Given the description of an element on the screen output the (x, y) to click on. 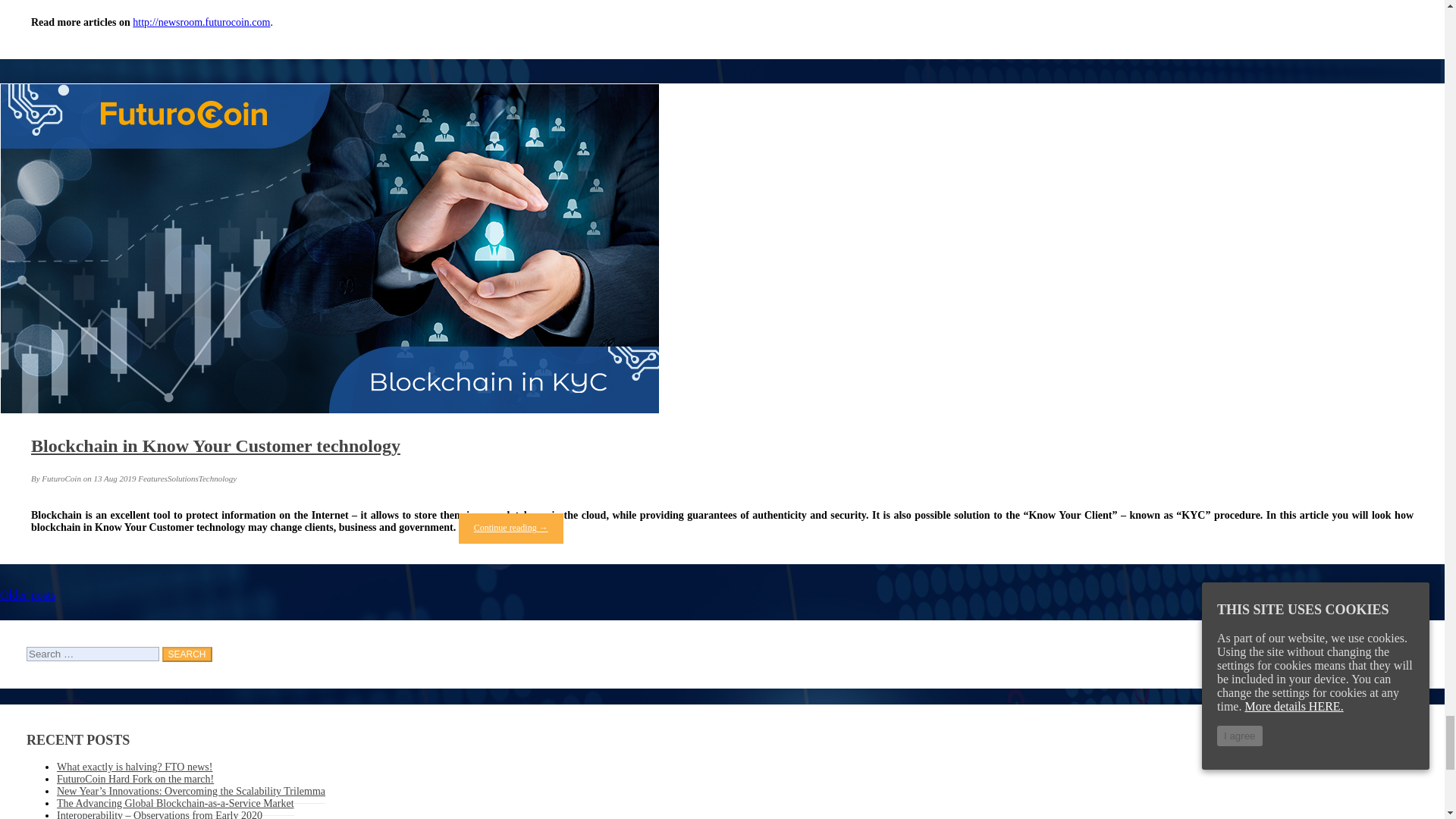
Search (186, 654)
Search (186, 654)
Search for: (92, 653)
FuturoCoin Hard Fork on the march! (135, 779)
What exactly is halving? FTO news! (134, 767)
Blockchain in Know Your Customer technology (215, 445)
The Advancing Global Blockchain-as-a-Service Market (175, 803)
Search (186, 654)
Older posts (27, 594)
